Given the description of an element on the screen output the (x, y) to click on. 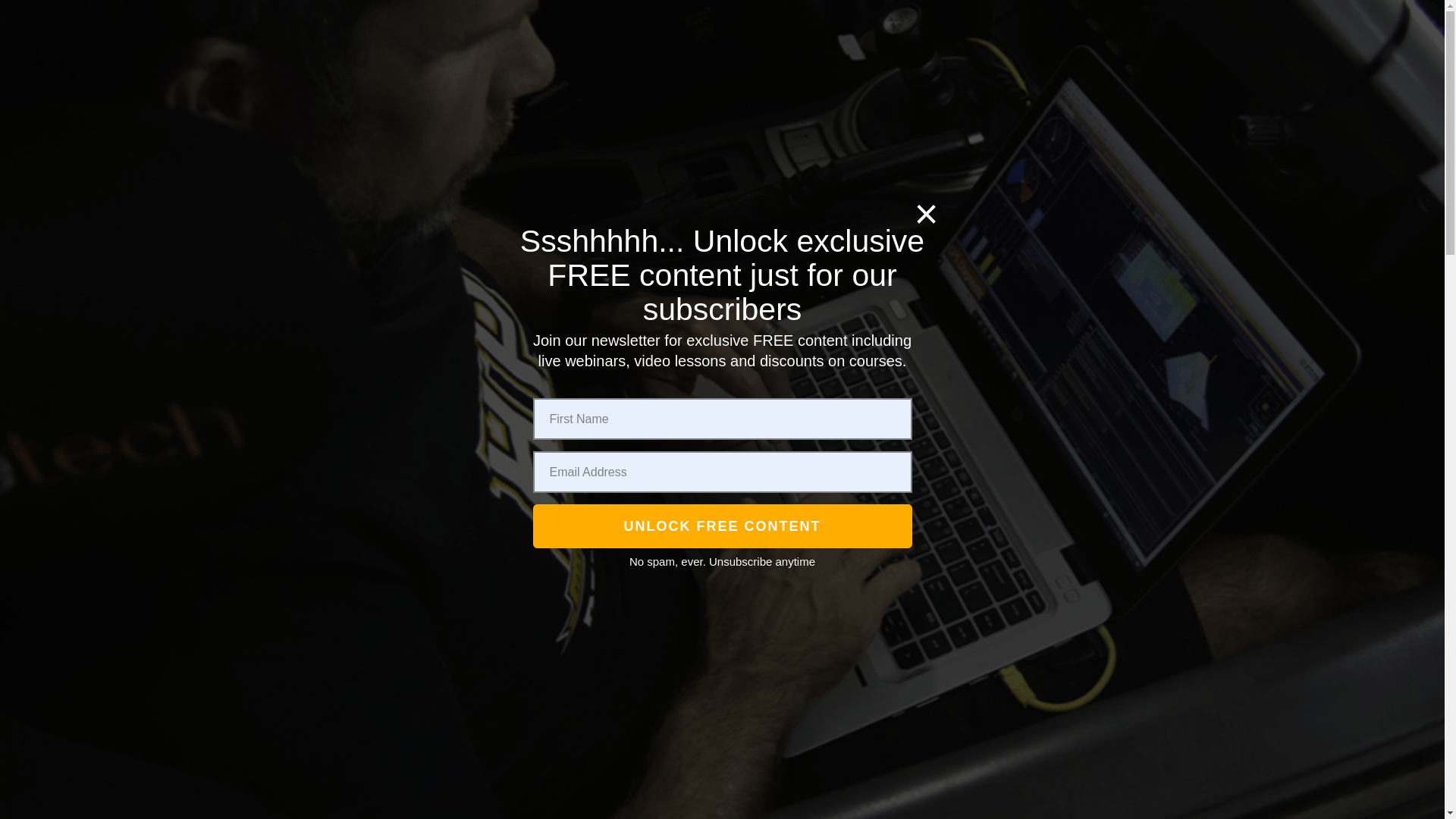
Click here to view omRacing (354, 663)
BLOG (818, 81)
FREE LESSONS (785, 162)
FORUM (963, 162)
ABOUT US (746, 81)
COURSES (427, 160)
MEMBER LOGIN (1110, 163)
WEBINARS (527, 162)
PODCAST (893, 162)
MEMBER LOGIN (662, 81)
ARTICLES (1108, 81)
Click here to view omRacing (889, 81)
STARTER PACKAGES (355, 730)
Click here to reply to this topic (647, 162)
